Given the description of an element on the screen output the (x, y) to click on. 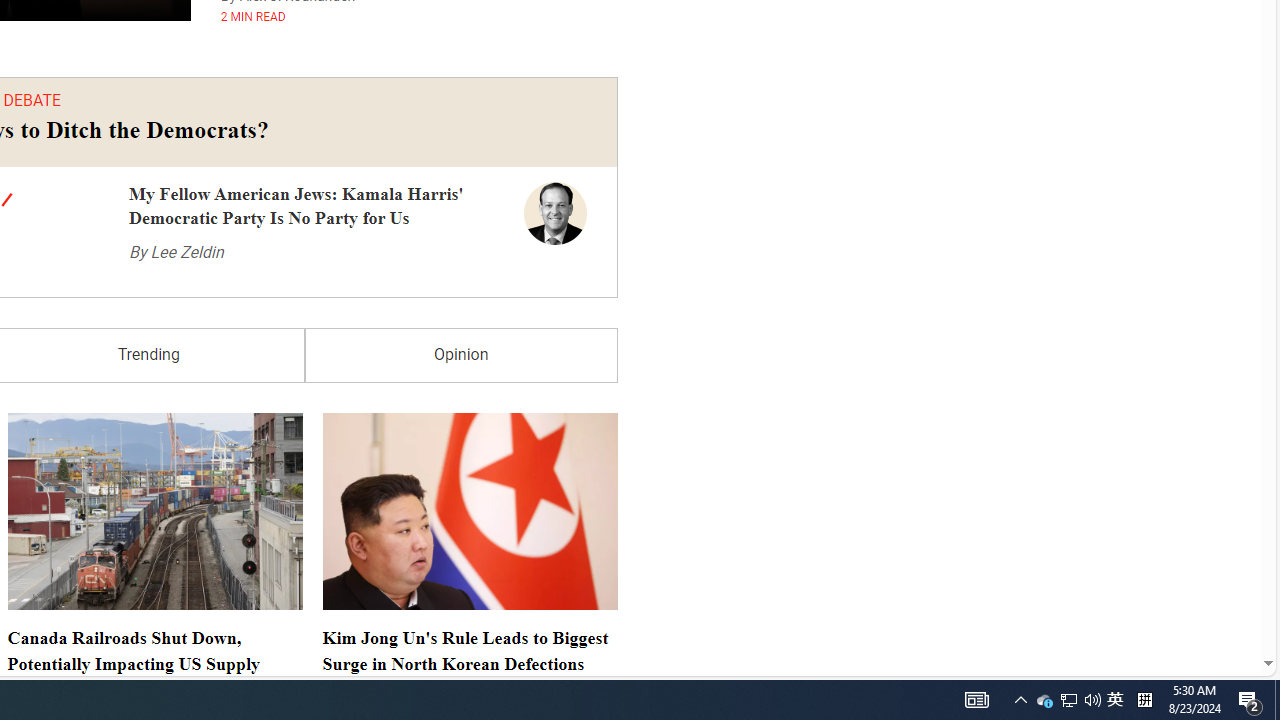
Opinion (461, 355)
By Lee Zeldin (176, 252)
